Given the description of an element on the screen output the (x, y) to click on. 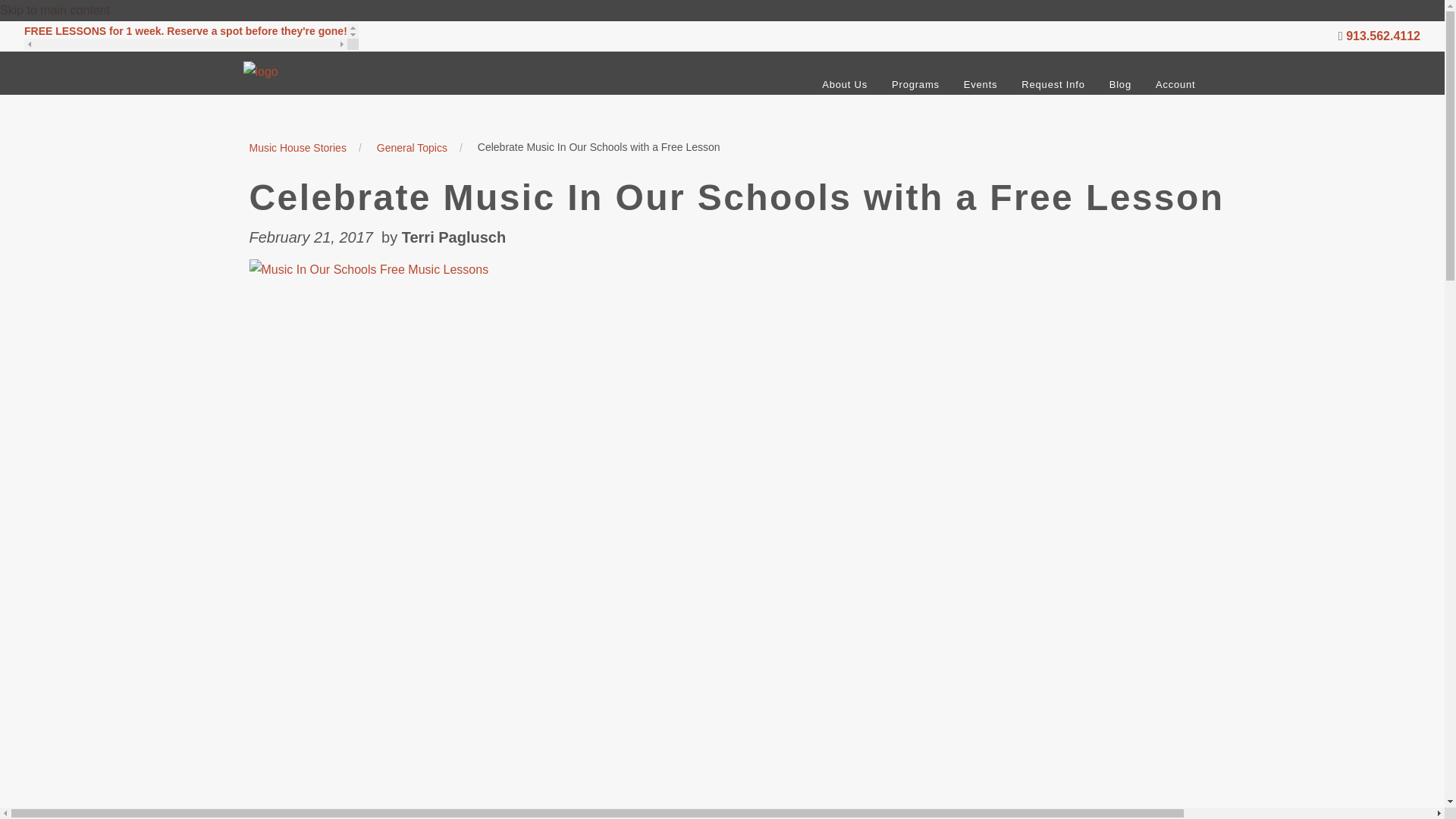
913.562.4112 (1383, 35)
FREE LESSONS for 1 week. Reserve a spot before they're gone! (191, 35)
General Topics (411, 147)
Account (1176, 84)
Music House Stories (297, 147)
Music House School of Music (320, 83)
FREE LESSONS for 1 week. Reserve a spot before they're gone! (185, 30)
Events (981, 84)
Request Info (1052, 84)
Skip to main content (55, 10)
Blog (1120, 84)
